Given the description of an element on the screen output the (x, y) to click on. 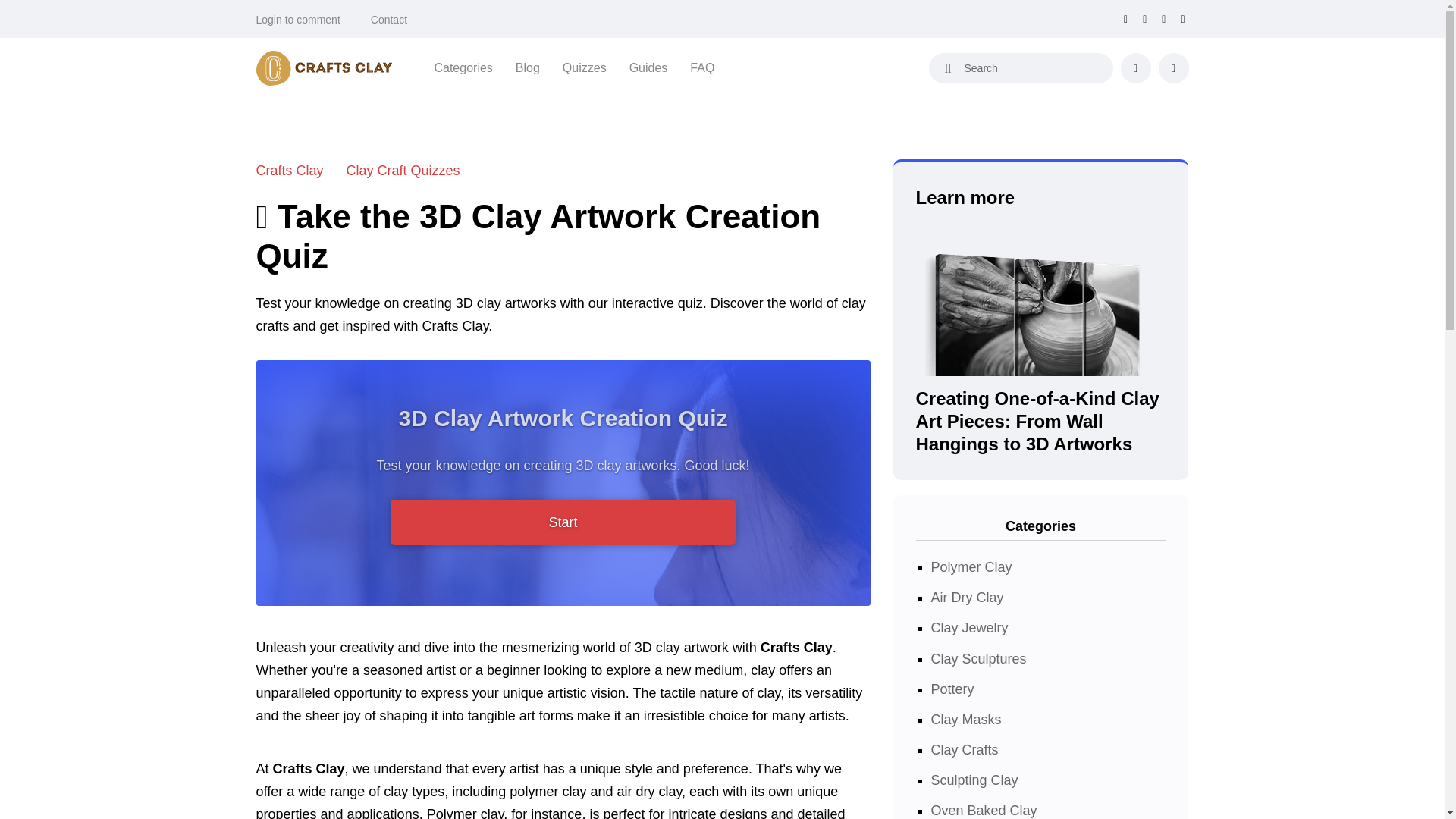
Login to comment (298, 19)
Contact (389, 19)
Categories (462, 67)
